Given the description of an element on the screen output the (x, y) to click on. 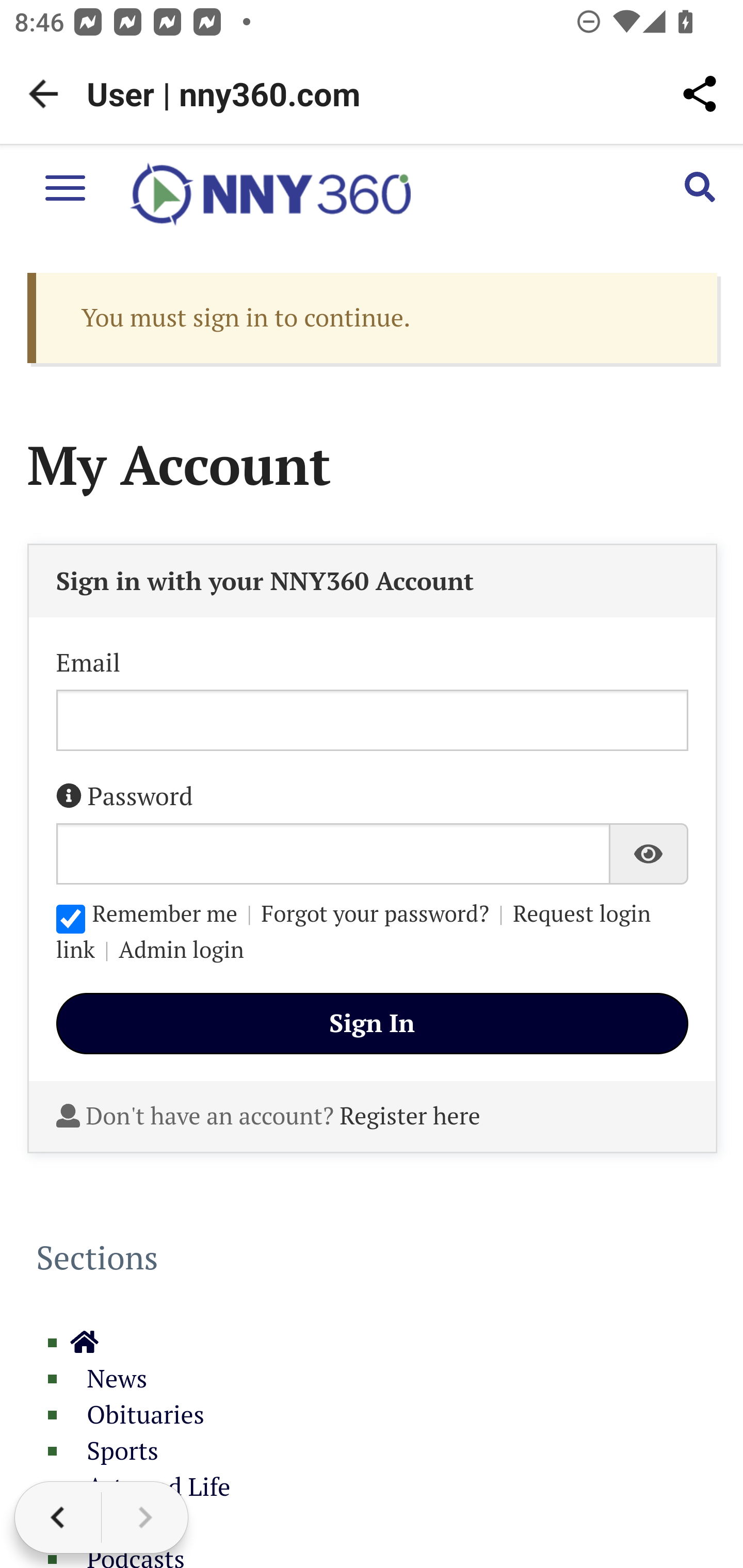
Left Main Menu (64, 187)
www.nny360 (270, 195)
Toggle password visibility (649, 854)
Request login link  (352, 930)
Remember me (70, 918)
Sign In (371, 1022)
Register here (410, 1116)
Home (84, 1342)
News (107, 1379)
Obituaries (136, 1415)
Sports (114, 1451)
